Given the description of an element on the screen output the (x, y) to click on. 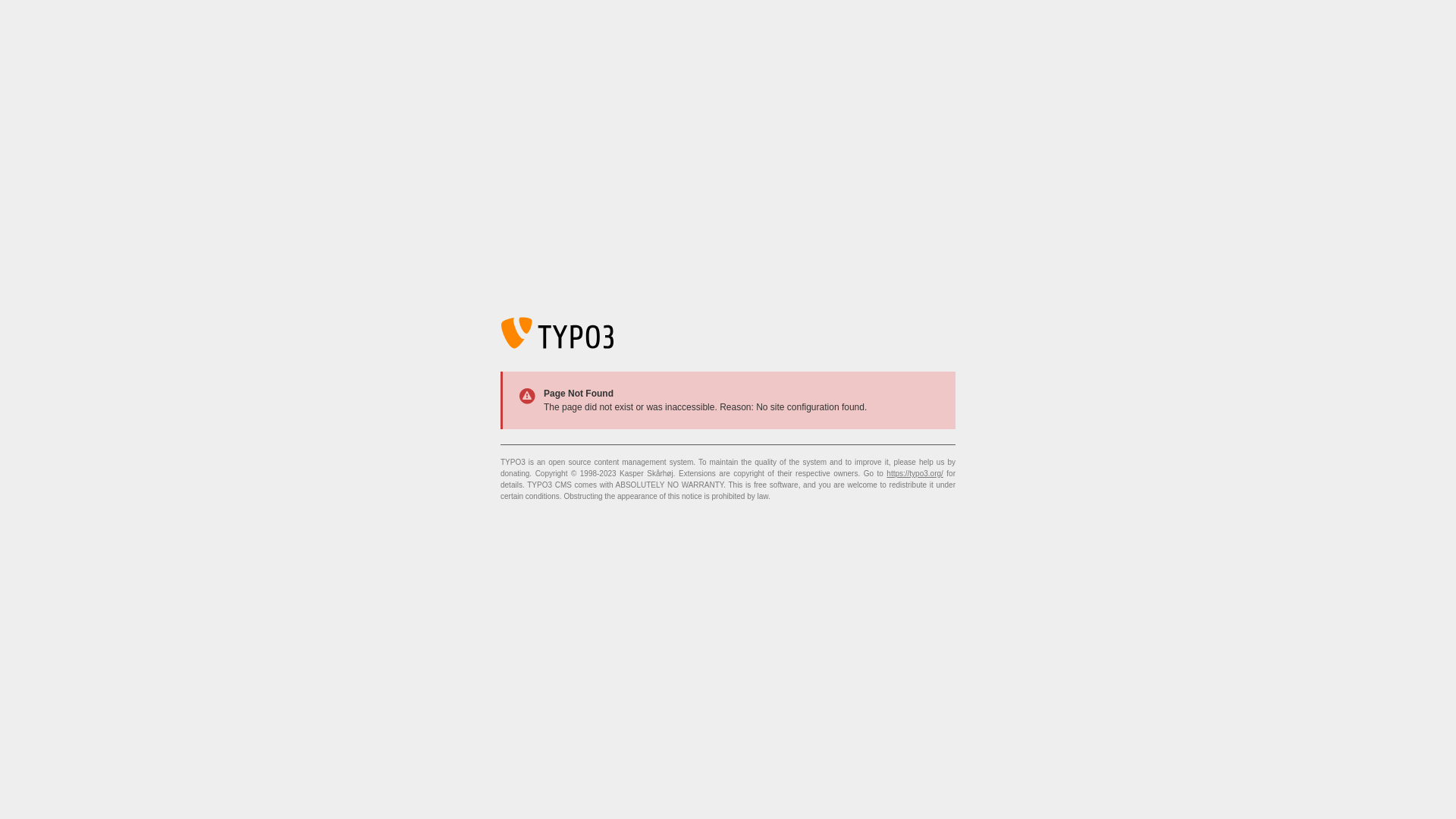
https://typo3.org/ Element type: text (914, 473)
